Given the description of an element on the screen output the (x, y) to click on. 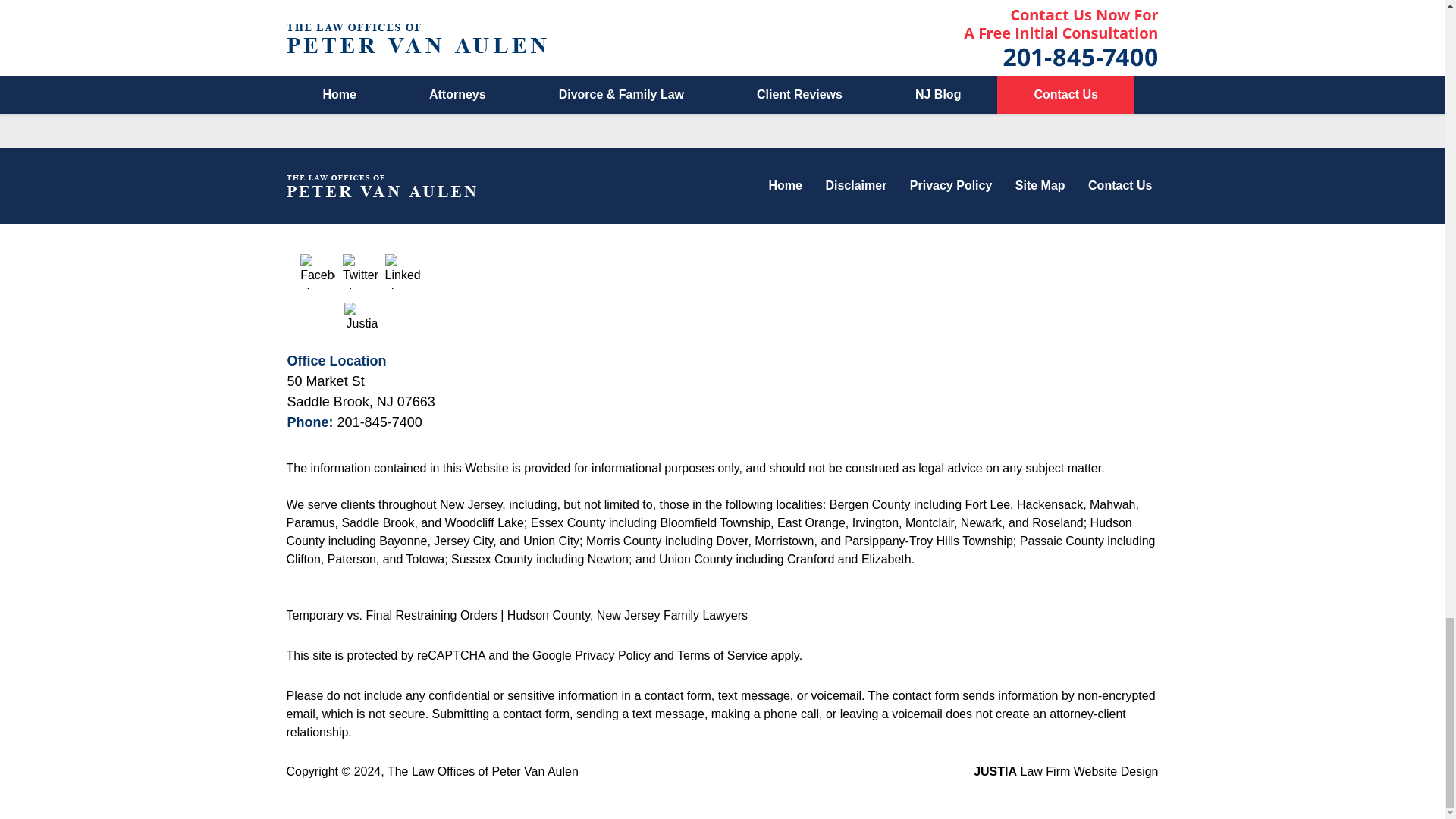
Justia (360, 319)
VIEW MORE (721, 9)
Twitter (359, 271)
LinkedIn (402, 271)
Facebook (316, 271)
